Given the description of an element on the screen output the (x, y) to click on. 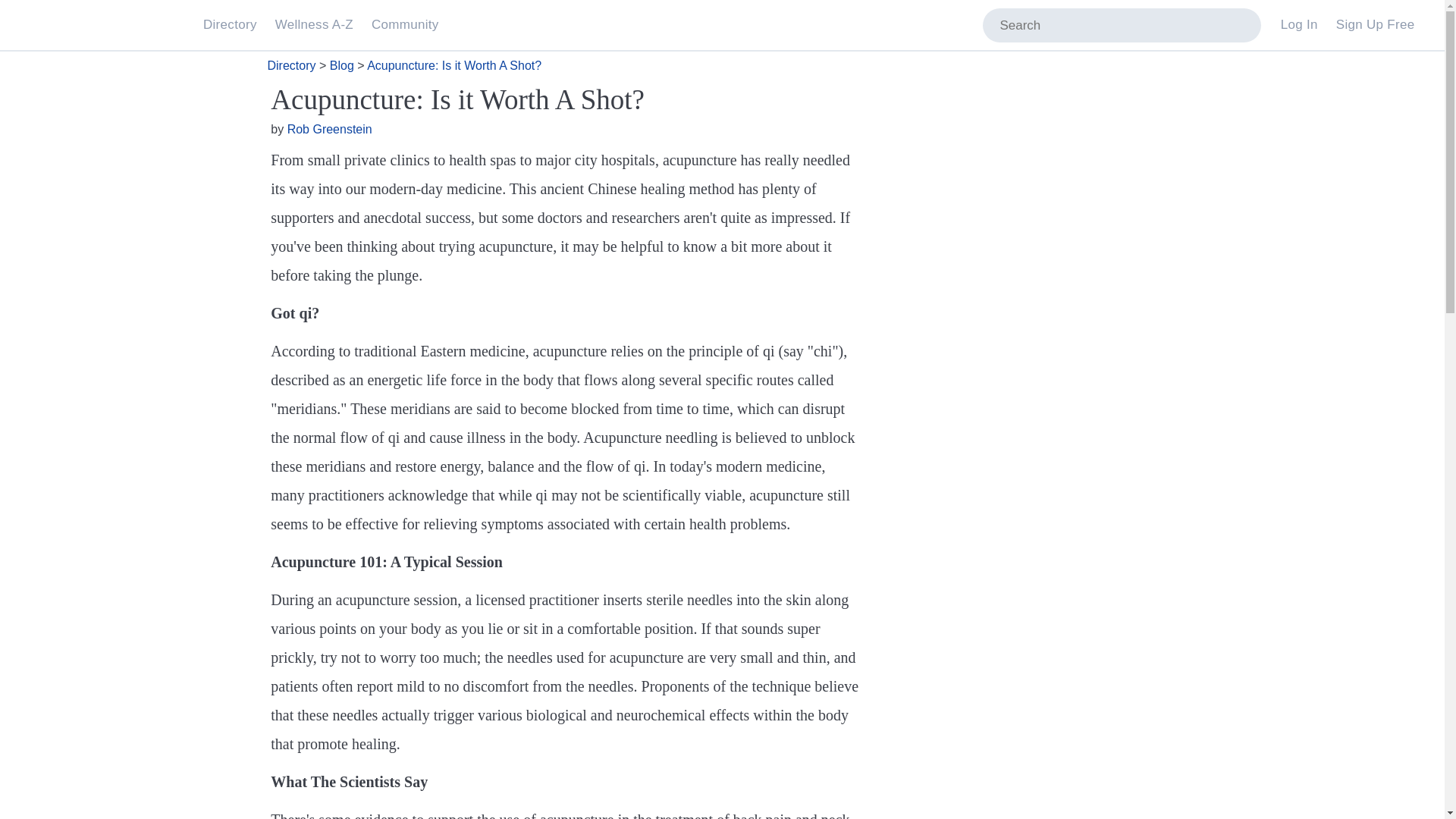
Wellness Directory (230, 25)
Directory (230, 25)
